Given the description of an element on the screen output the (x, y) to click on. 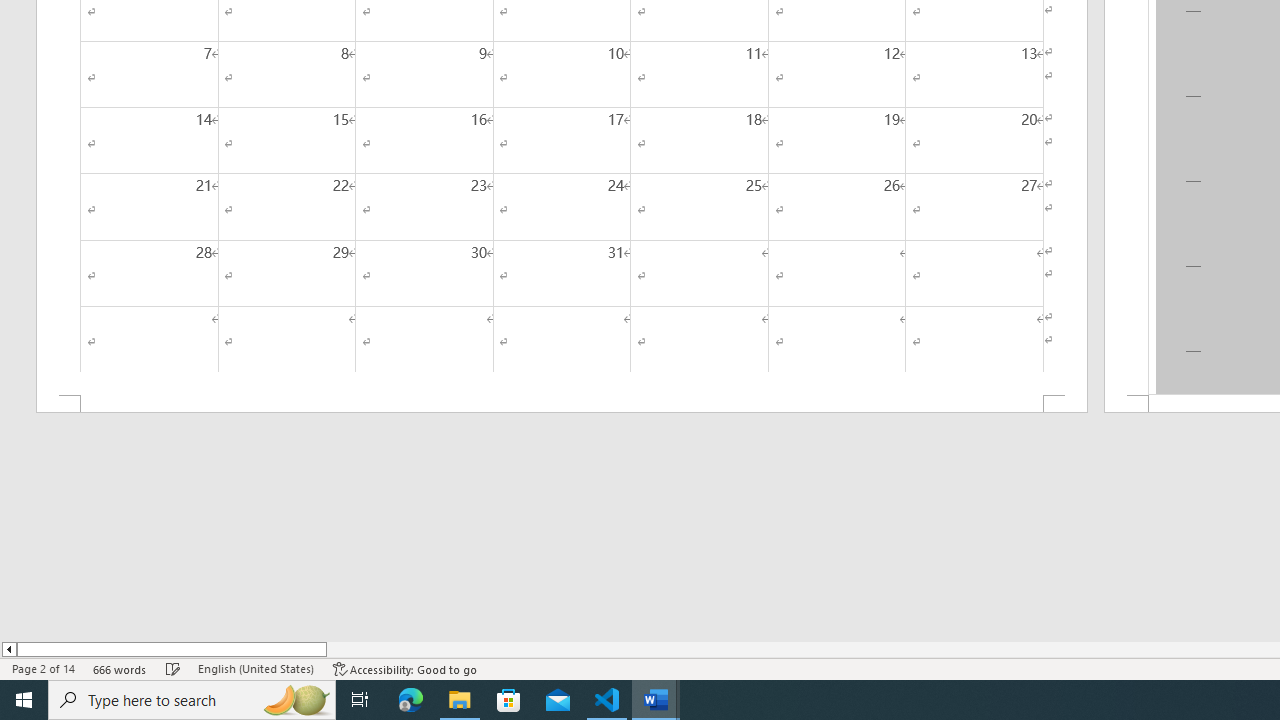
Accessibility Checker Accessibility: Good to go (405, 668)
Word Count 666 words (119, 668)
Footer -Section 1- (561, 404)
Page Number Page 2 of 14 (43, 668)
Spelling and Grammar Check Checking (173, 668)
Language English (United States) (255, 668)
Column left (8, 649)
